Given the description of an element on the screen output the (x, y) to click on. 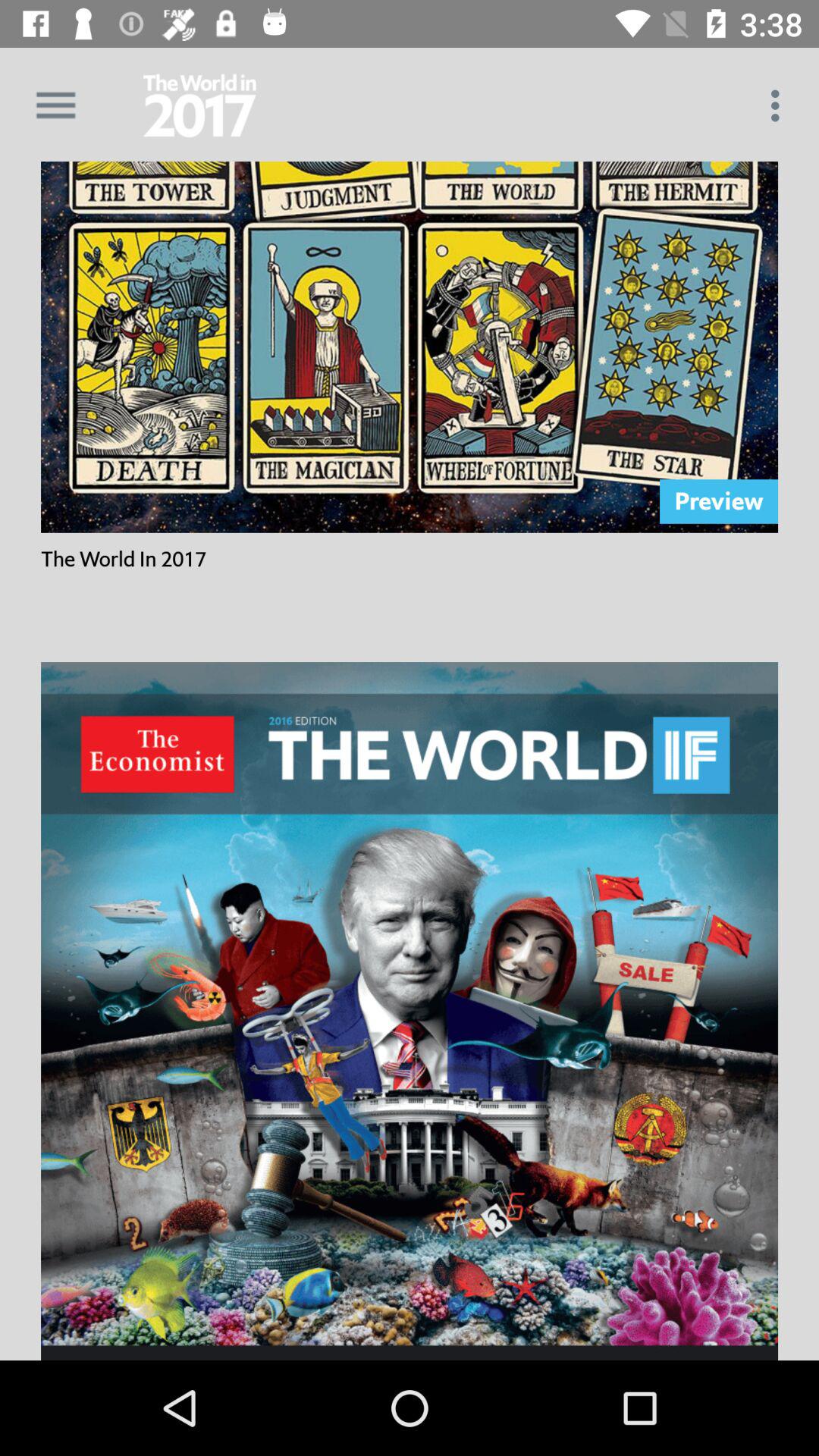
turn off the item at the top right corner (779, 105)
